Given the description of an element on the screen output the (x, y) to click on. 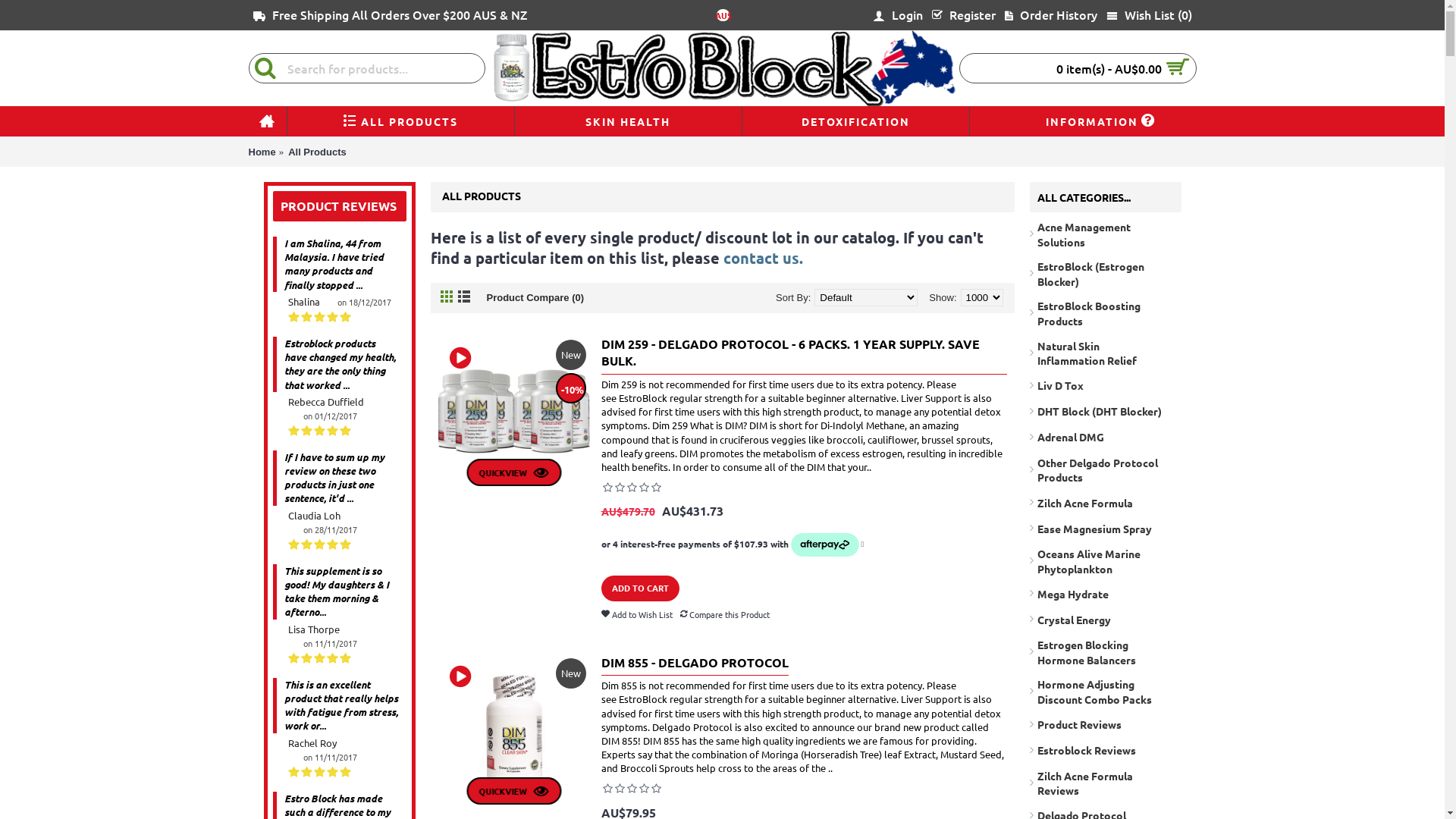
Oceans Alive Marine Phytoplankton Element type: text (1105, 558)
All Products Element type: text (317, 152)
Wish List (0) Element type: text (1148, 15)
EstroBlock Boosting Products Element type: text (1105, 310)
DHT Block (DHT Blocker) Element type: text (1105, 409)
QUICKVIEW Element type: text (513, 790)
0 item(s) - AU$0.00 Element type: text (1077, 67)
Estroblock Reviews Element type: text (1105, 748)
Add to Wish List Element type: text (635, 614)
ADD TO CART Element type: text (639, 588)
contact us. Element type: text (763, 257)
DIM 855 - DELGADO PROTOCOL Element type: text (693, 664)
QUICKVIEW Element type: text (513, 472)
Hormone Adjusting Discount Combo Packs Element type: text (1105, 689)
Acne Management Solutions Element type: text (1105, 231)
Mega Hydrate Element type: text (1105, 591)
Login Element type: text (896, 15)
Other Delgado Protocol Products Element type: text (1105, 467)
Zilch Acne Formula Reviews Element type: text (1105, 780)
DIM 855 - Delgado Protocol Element type: hover (459, 674)
INFORMATION Element type: text (1082, 121)
Estrogen Blocking Hormone Balancers Element type: text (1105, 649)
Product Compare (0) Element type: text (535, 297)
Liv D Tox Element type: text (1105, 383)
Register Element type: text (962, 15)
Crystal Energy Element type: text (1105, 617)
Home Element type: text (262, 152)
EstroBlock (Estrogen Blocker) Element type: text (1105, 271)
DETOXIFICATION Element type: text (854, 121)
EstroBlock Australia Element type: hover (722, 68)
Ease Magnesium Spray Element type: text (1105, 526)
SKIN HEALTH Element type: text (627, 121)
Compare this Product Element type: text (723, 614)
Free Shipping All Orders Over $200 AUS & NZ Element type: text (389, 15)
DIM 855 60 caps - Delgado Protocol Detox Products Element type: hover (513, 730)
Adrenal DMG Element type: text (1105, 435)
Natural Skin Inflammation Relief Element type: text (1105, 350)
Product Reviews Element type: text (1105, 722)
ALL PRODUCTS Element type: text (399, 121)
AU$ Element type: text (723, 15)
Zilch Acne Formula Element type: text (1105, 500)
Order History Element type: text (1050, 15)
